Given the description of an element on the screen output the (x, y) to click on. 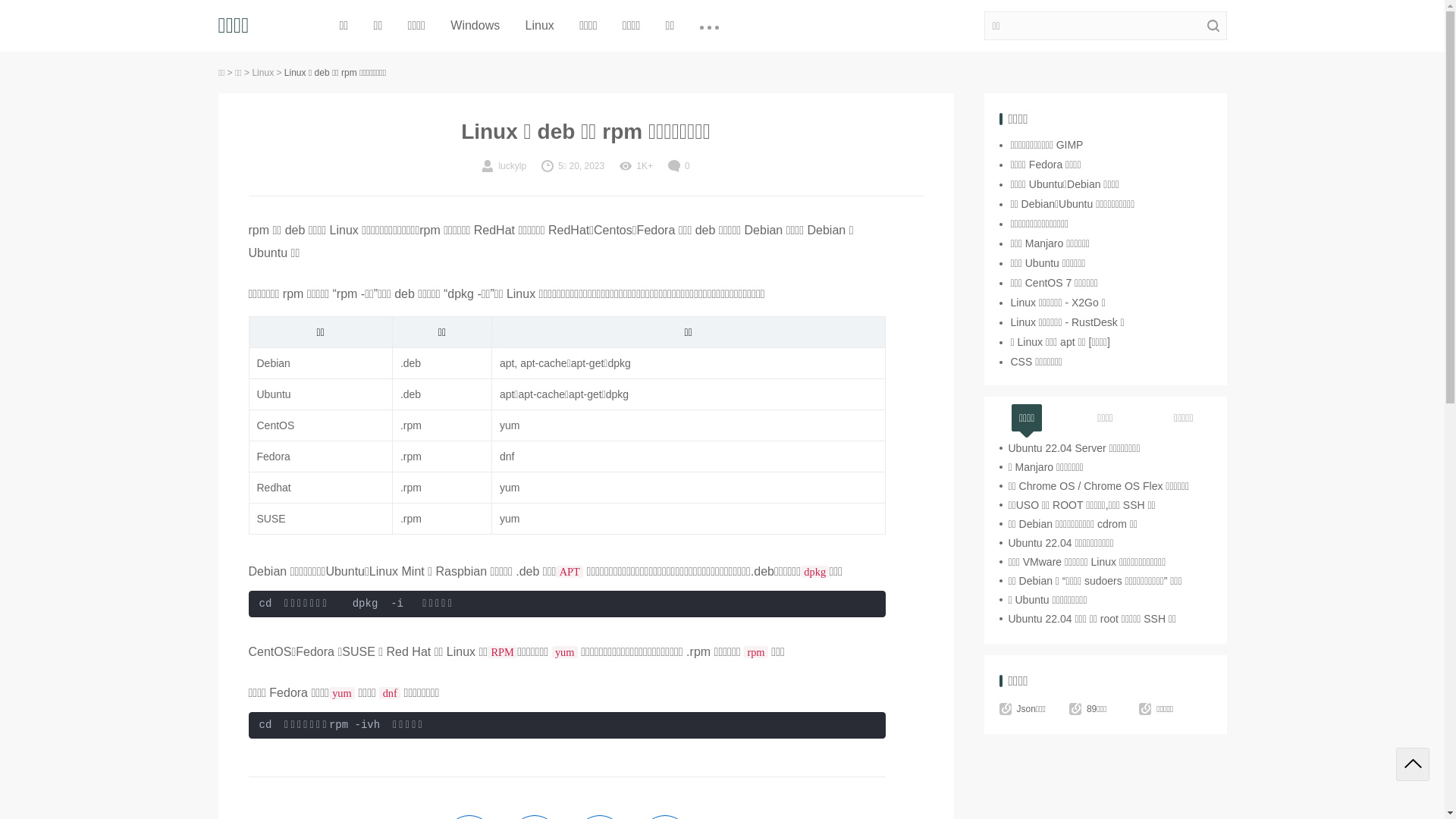
Windows Element type: text (474, 25)
Linux Element type: text (262, 72)
Back to top Element type: hover (1412, 764)
0 Element type: text (679, 165)
Linux Element type: text (539, 25)
